Given the description of an element on the screen output the (x, y) to click on. 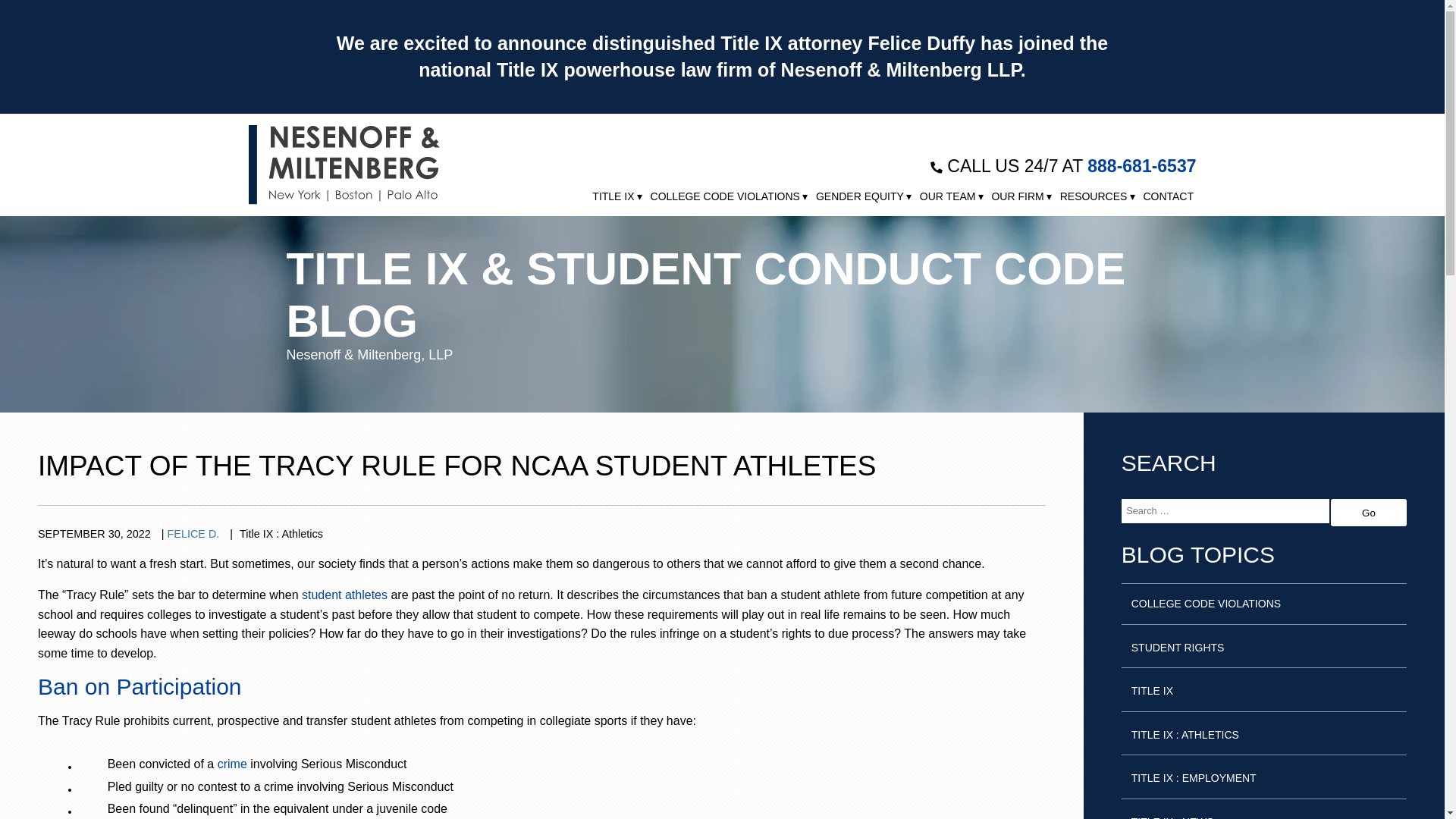
Go (1368, 512)
Go (1368, 512)
COLLEGE CODE VIOLATIONS (724, 195)
TITLE IX (613, 195)
888-681-6537 (1141, 166)
